Given the description of an element on the screen output the (x, y) to click on. 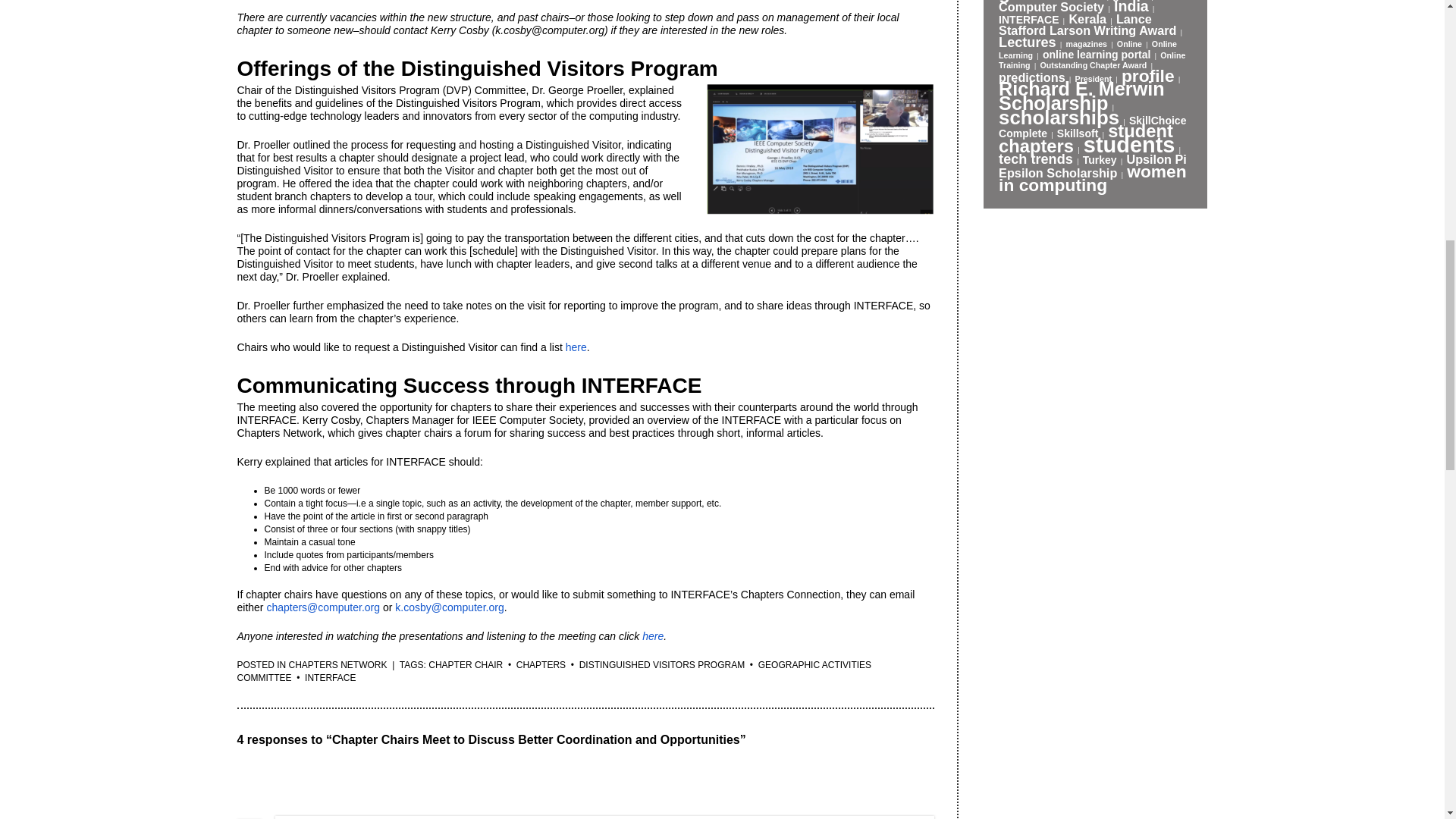
DISTINGUISHED VISITORS PROGRAM (661, 665)
GEOGRAPHIC ACTIVITIES COMMITTEE (552, 671)
INTERFACE (329, 677)
CHAPTER CHAIR (465, 665)
here (576, 346)
here (652, 635)
CHAPTERS NETWORK (337, 665)
CHAPTERS (541, 665)
